Given the description of an element on the screen output the (x, y) to click on. 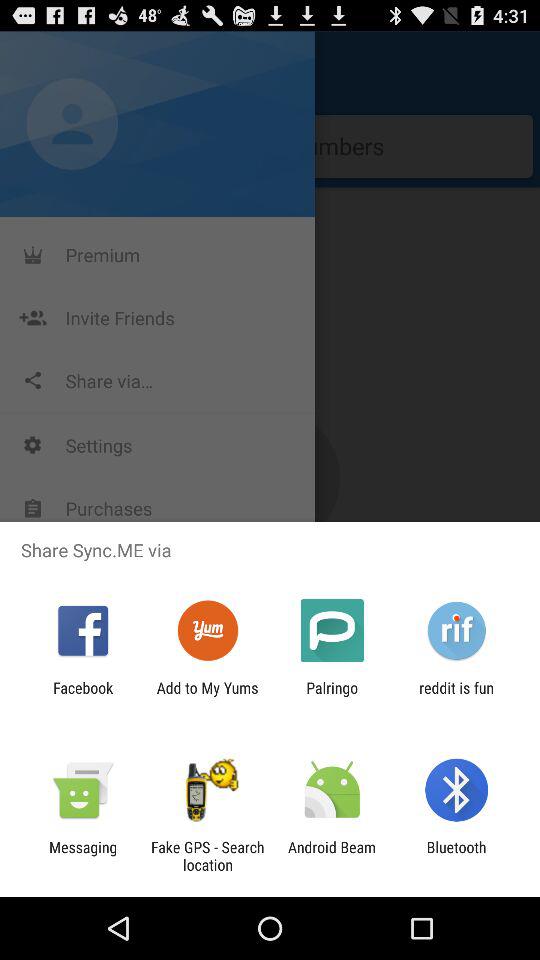
turn off app to the right of add to my icon (332, 696)
